Given the description of an element on the screen output the (x, y) to click on. 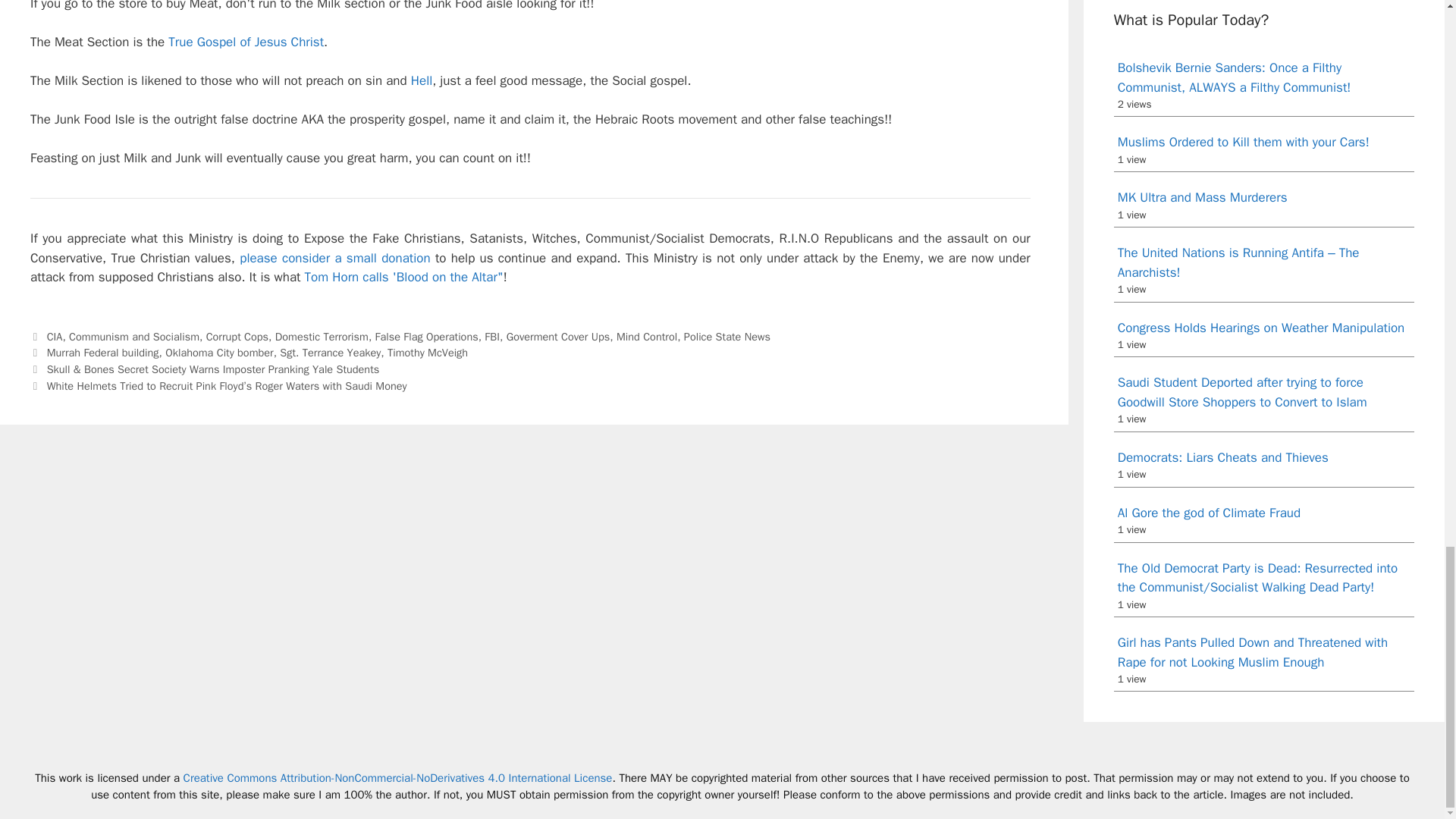
CIA (54, 336)
Corrupt Cops (236, 336)
Tom Horn calls 'Blood on the Altar" (403, 277)
Hell (421, 80)
please consider a small donation (334, 258)
Domestic Terrorism (321, 336)
Communism and Socialism (133, 336)
True Gospel of Jesus Christ (245, 41)
